Given the description of an element on the screen output the (x, y) to click on. 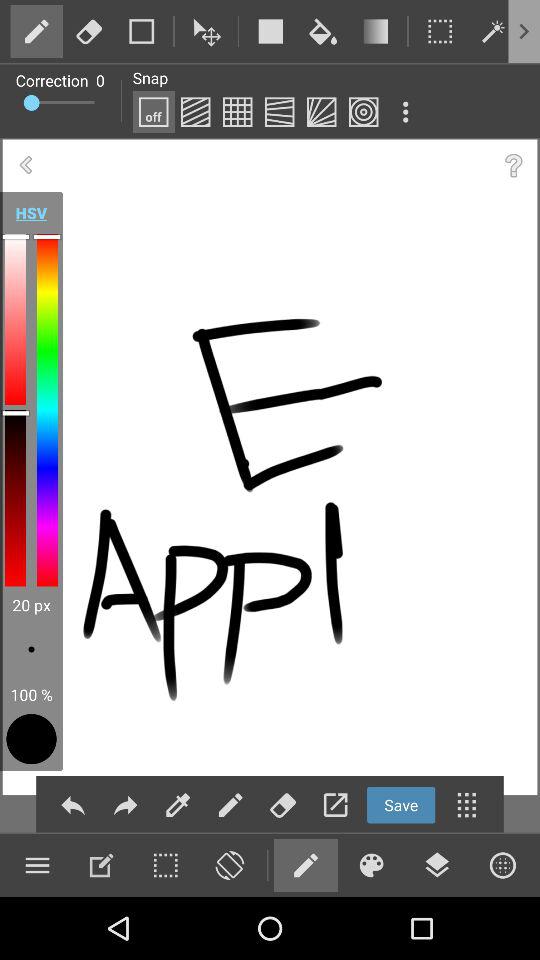
torch (492, 31)
